Given the description of an element on the screen output the (x, y) to click on. 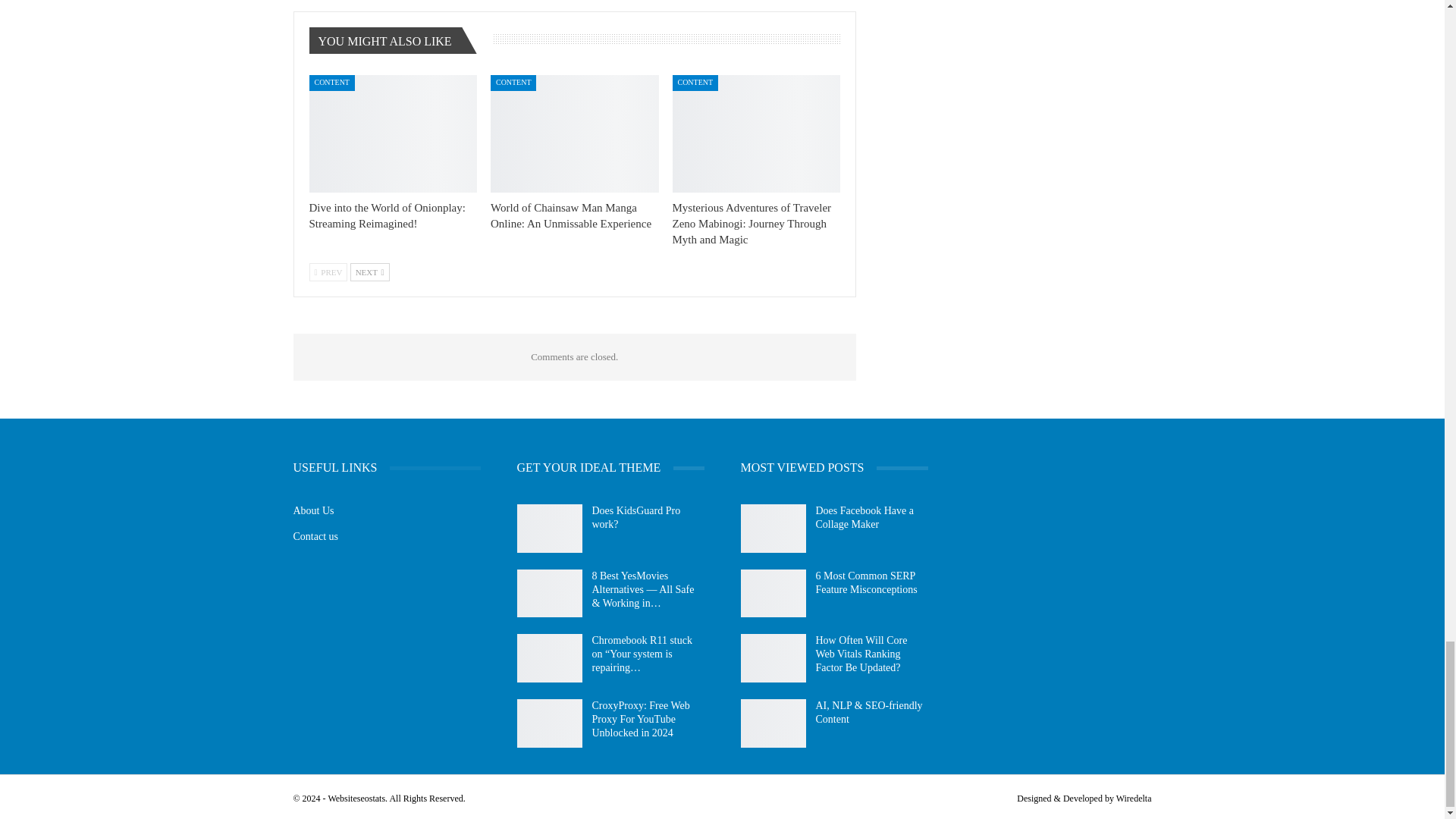
World of Chainsaw Man Manga Online: An Unmissable Experience (570, 215)
CroxyProxy: Free Web Proxy For YouTube Unblocked in 2024 (549, 723)
YOU MIGHT ALSO LIKE (389, 41)
Does KidsGuard Pro work? (549, 528)
Next (370, 271)
World of Chainsaw Man Manga Online: An Unmissable Experience (574, 133)
CONTENT (331, 82)
Previous (327, 271)
Dive into the World of Onionplay: Streaming Reimagined! (392, 133)
Dive into the World of Onionplay: Streaming Reimagined! (386, 215)
Dive into the World of Onionplay: Streaming Reimagined! (386, 215)
